Given the description of an element on the screen output the (x, y) to click on. 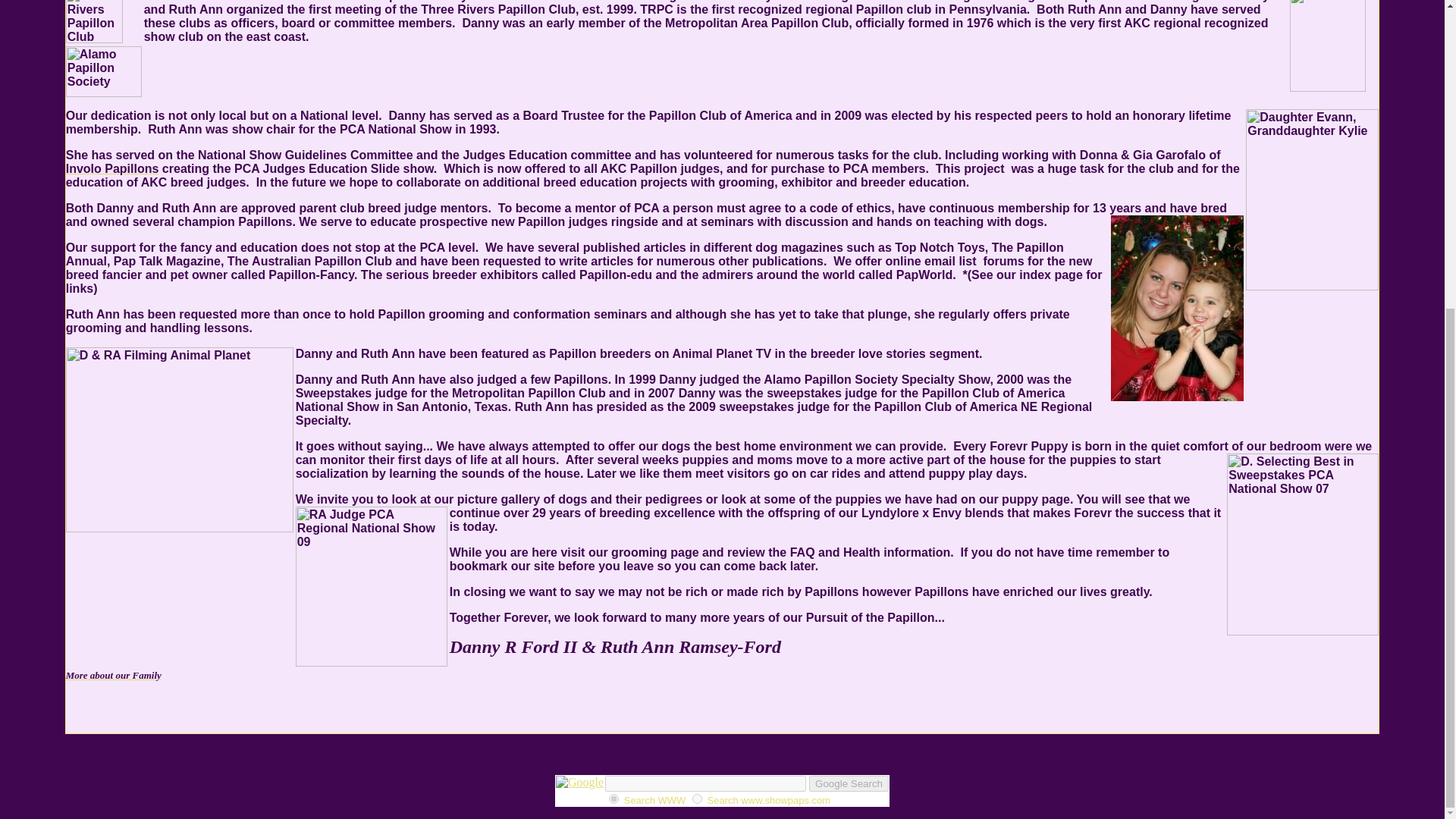
Google Search (848, 783)
www.showpaps.com (697, 798)
